Given the description of an element on the screen output the (x, y) to click on. 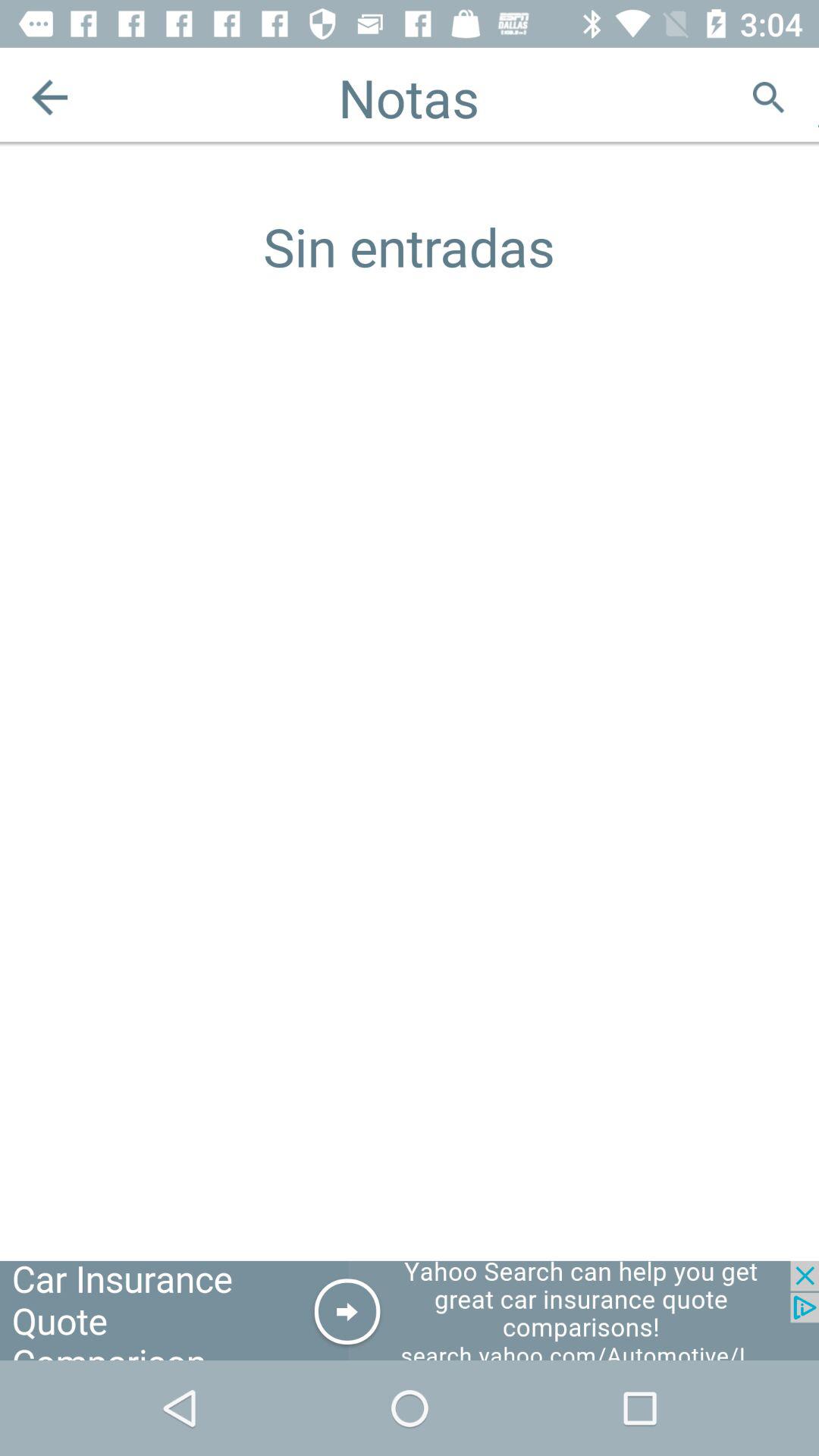
go to backward (49, 97)
